Given the description of an element on the screen output the (x, y) to click on. 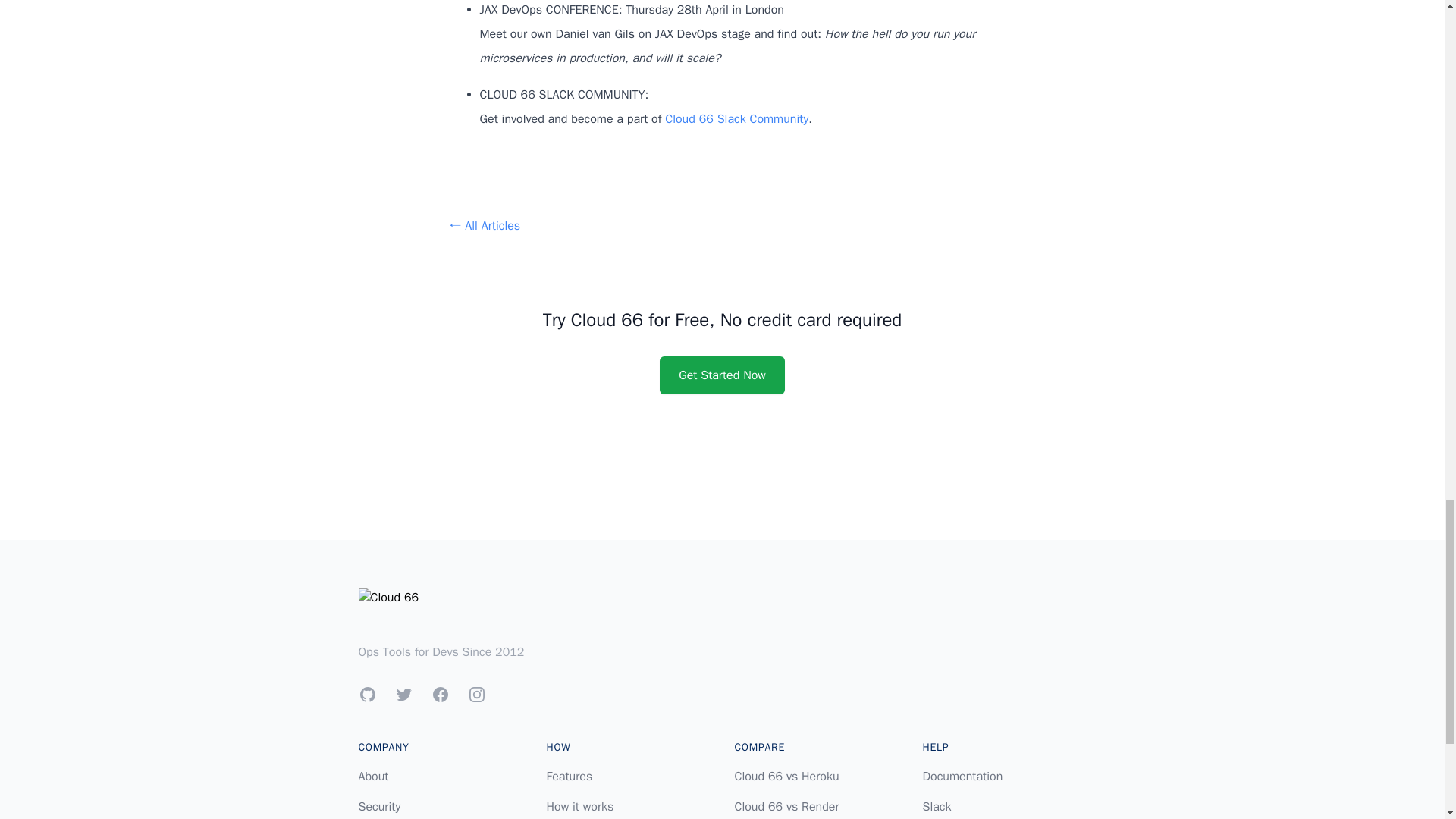
GitHub (366, 694)
Cloud 66 vs Heroku (785, 776)
Facebook (439, 694)
Get Started Now (721, 374)
Twitter (403, 694)
Features (569, 776)
Instagram (475, 694)
Cloud 66 vs Render (785, 806)
Security (379, 806)
Get Started Now (721, 375)
Documentation (962, 776)
Slack (935, 806)
Cloud 66 Slack Community (736, 118)
About (373, 776)
How it works (579, 806)
